Given the description of an element on the screen output the (x, y) to click on. 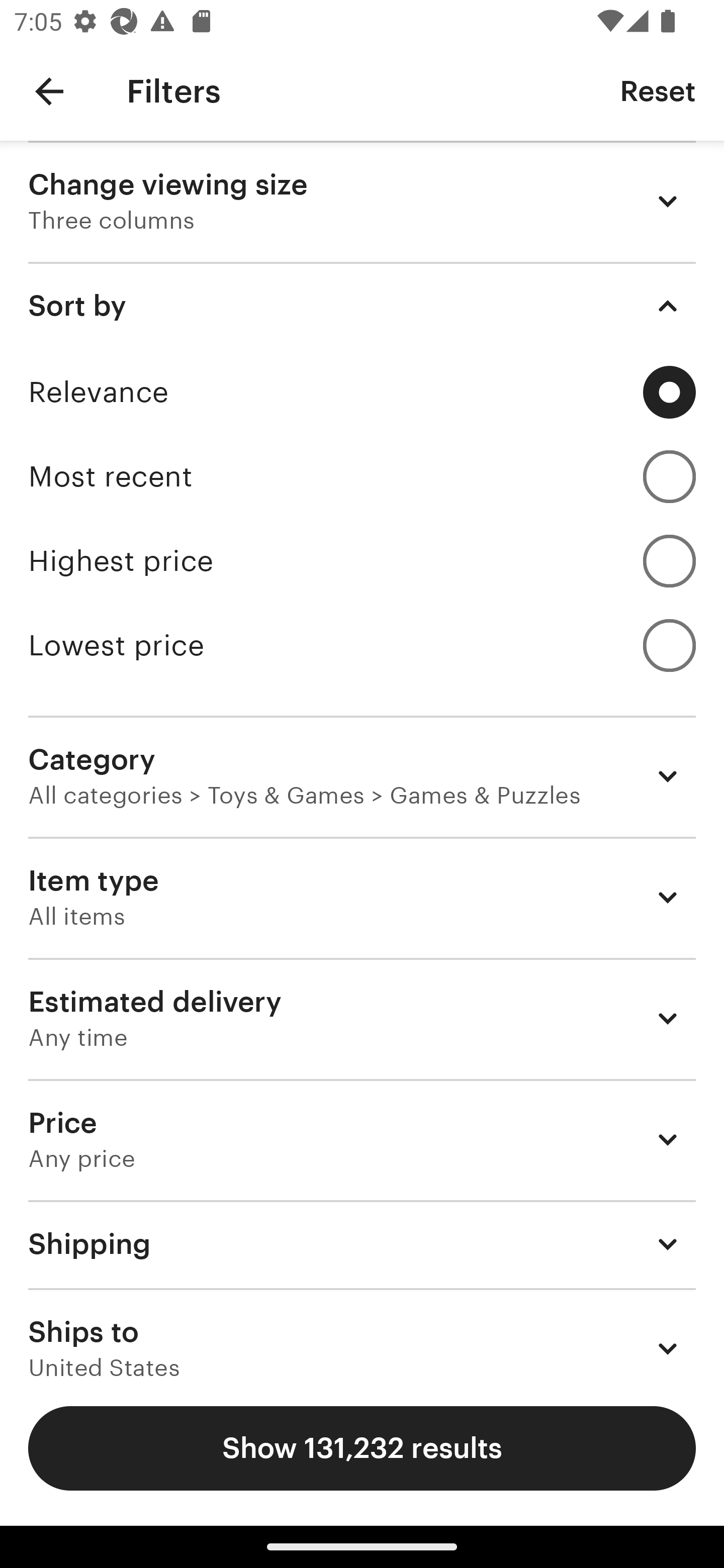
Navigate up (49, 91)
Reset (657, 90)
Change viewing size Three columns (362, 201)
Sort by (362, 305)
Relevance (362, 391)
Most recent (362, 476)
Highest price (362, 561)
Lowest price (362, 644)
Item type All items (362, 897)
Estimated delivery Any time (362, 1018)
Price Any price (362, 1138)
Shipping (362, 1243)
Ships to United States (362, 1332)
Show 131,232 results Show results (361, 1448)
